Given the description of an element on the screen output the (x, y) to click on. 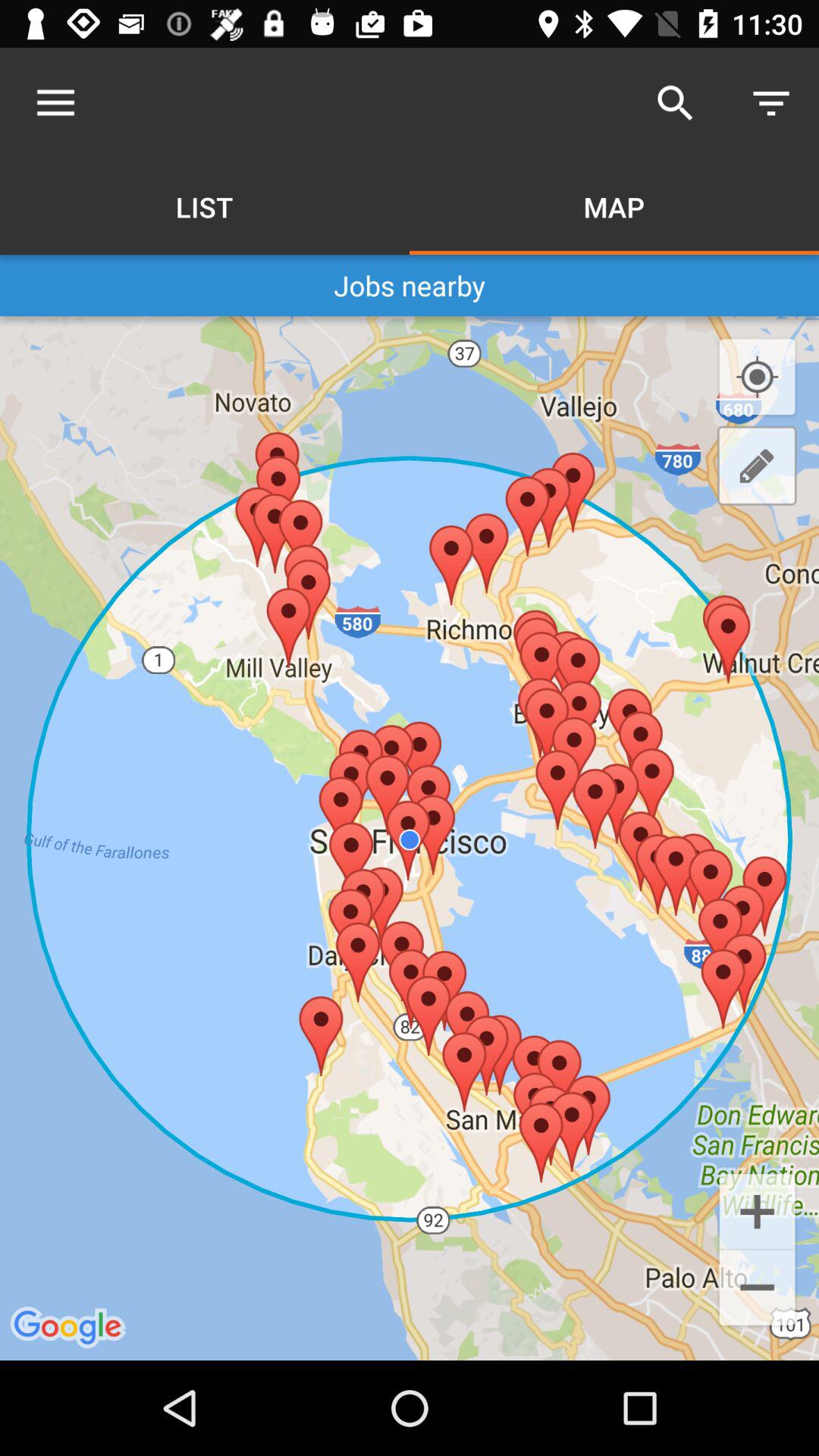
select icon above the map icon (675, 103)
